Given the description of an element on the screen output the (x, y) to click on. 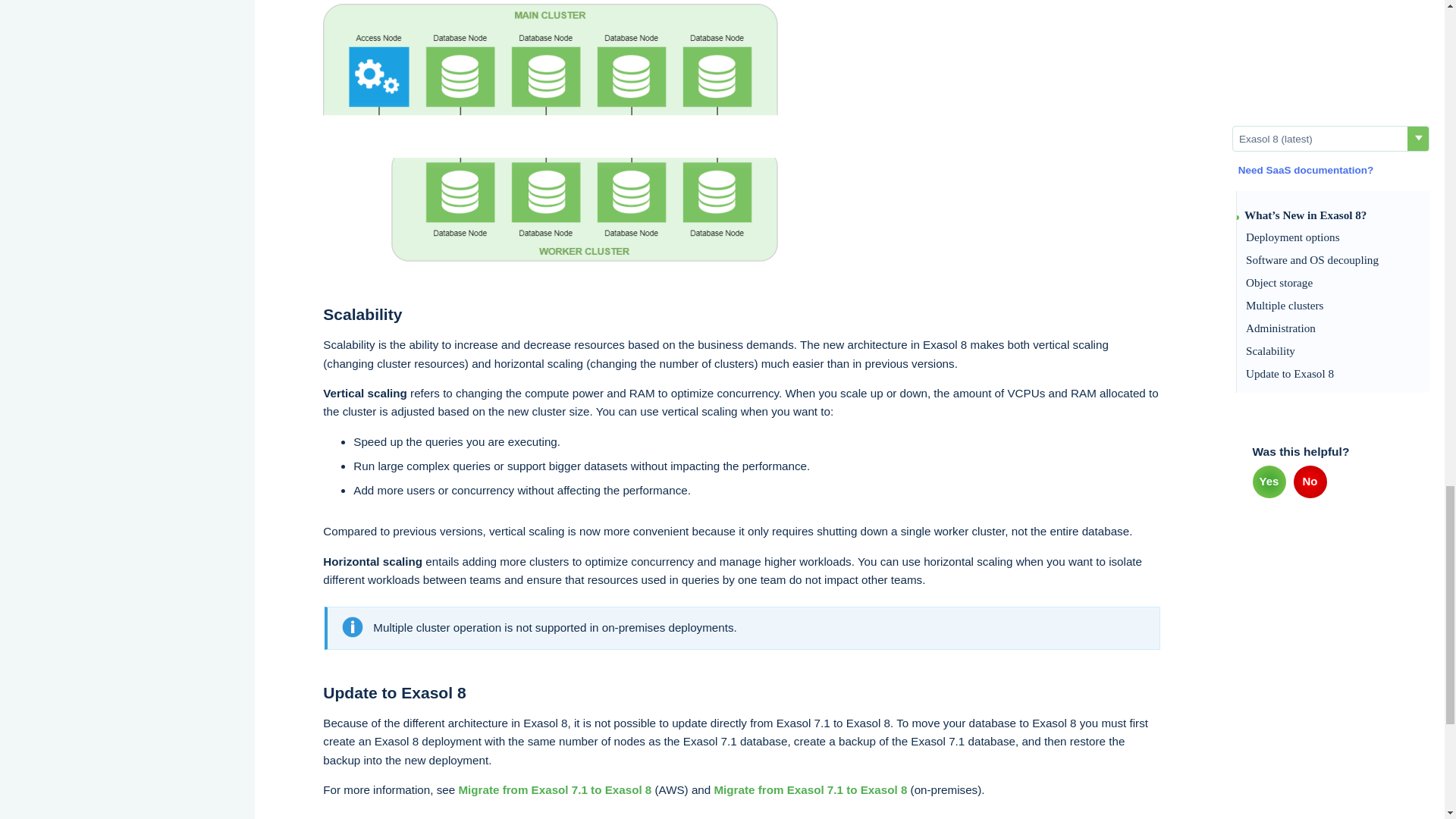
Migrate from Exasol 7.1 to Exasol 8 (810, 789)
Migrate from Exasol 7.1 to Exasol 8 (554, 789)
